Given the description of an element on the screen output the (x, y) to click on. 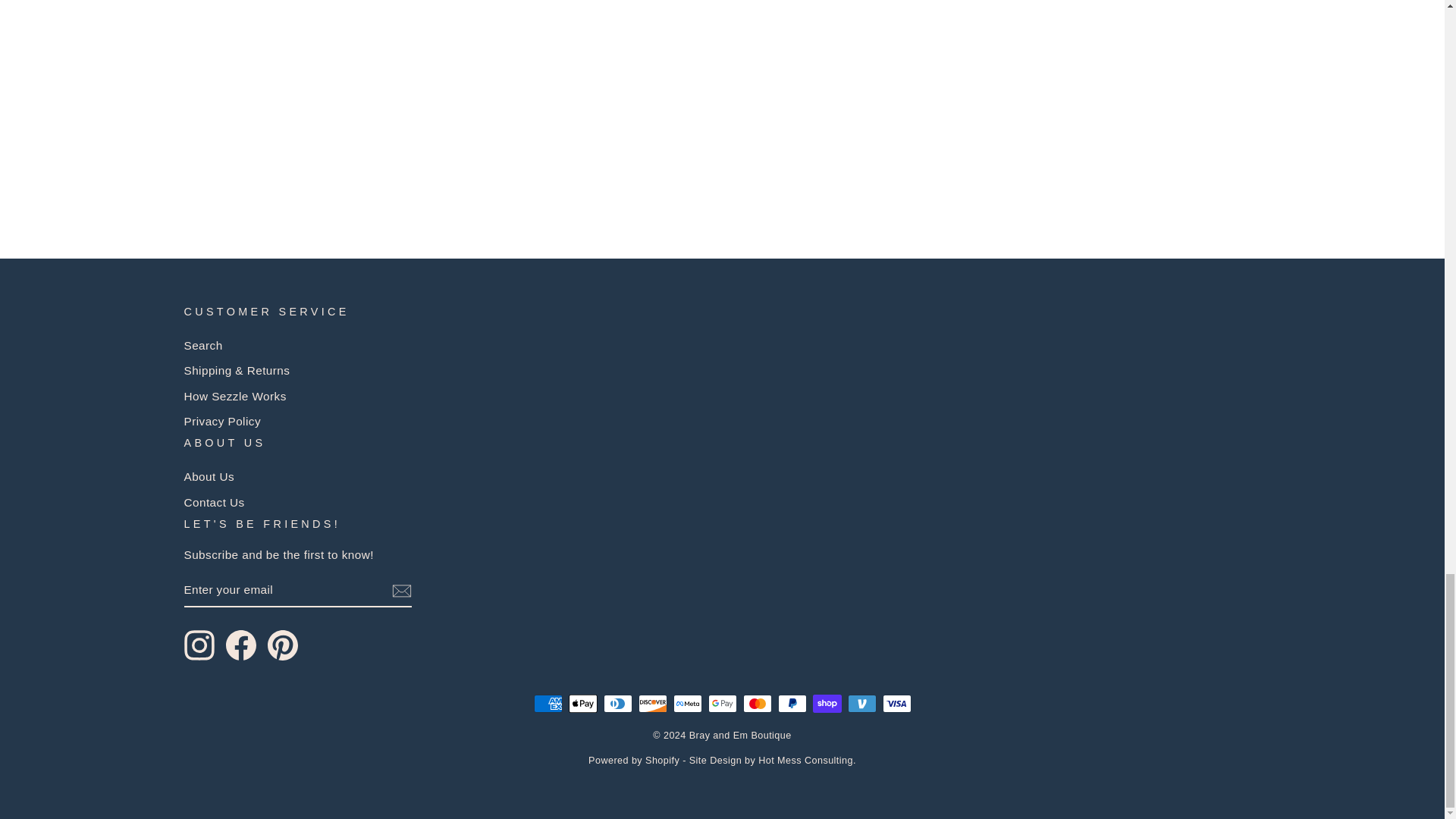
Bray and Em Boutique on Facebook (240, 644)
Bray and Em Boutique on Pinterest (281, 644)
Diners Club (617, 703)
American Express (548, 703)
Discover (652, 703)
Bray and Em Boutique on Instagram (198, 644)
Apple Pay (582, 703)
